Given the description of an element on the screen output the (x, y) to click on. 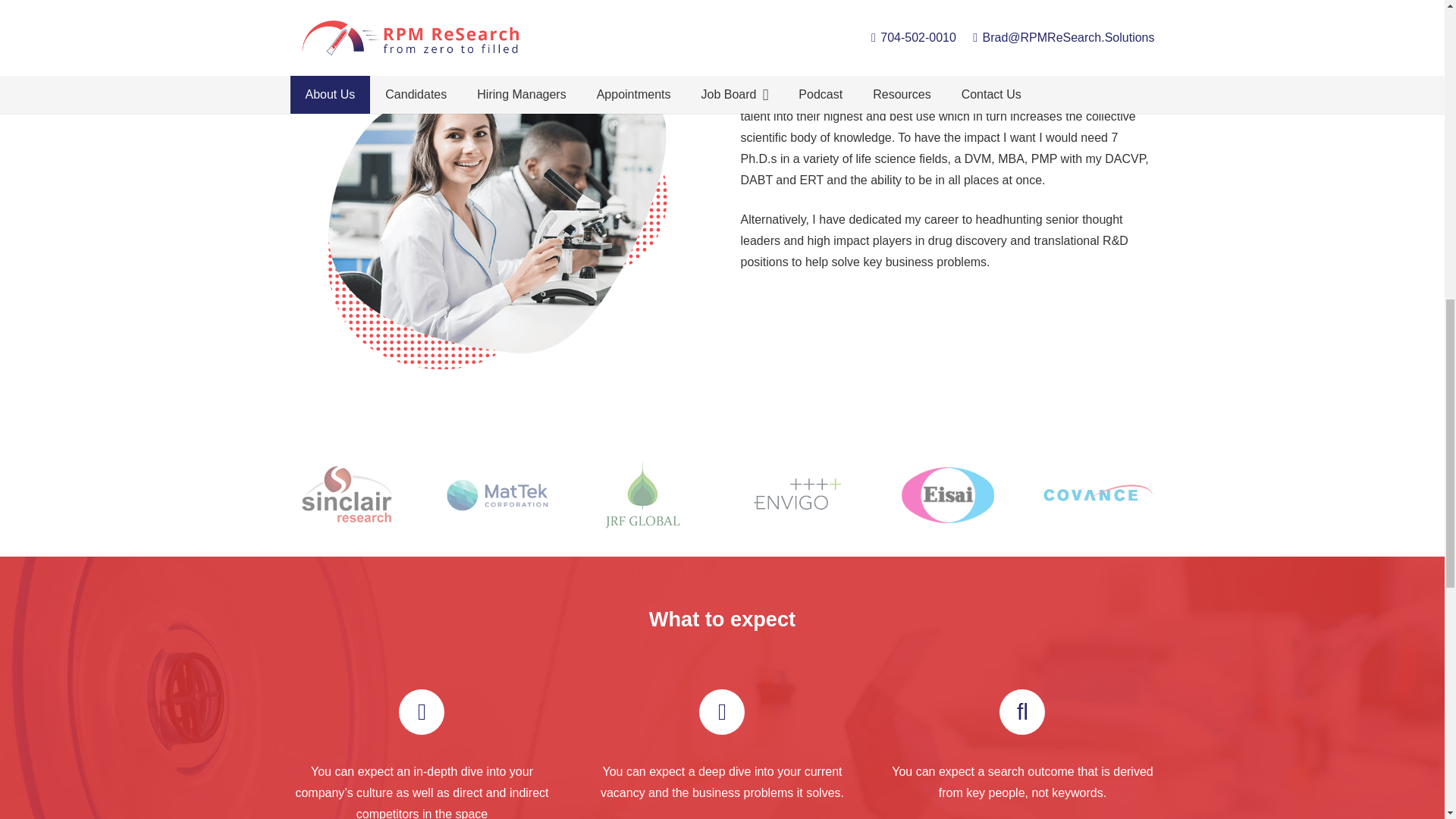
Back to top (1413, 30)
